Given the description of an element on the screen output the (x, y) to click on. 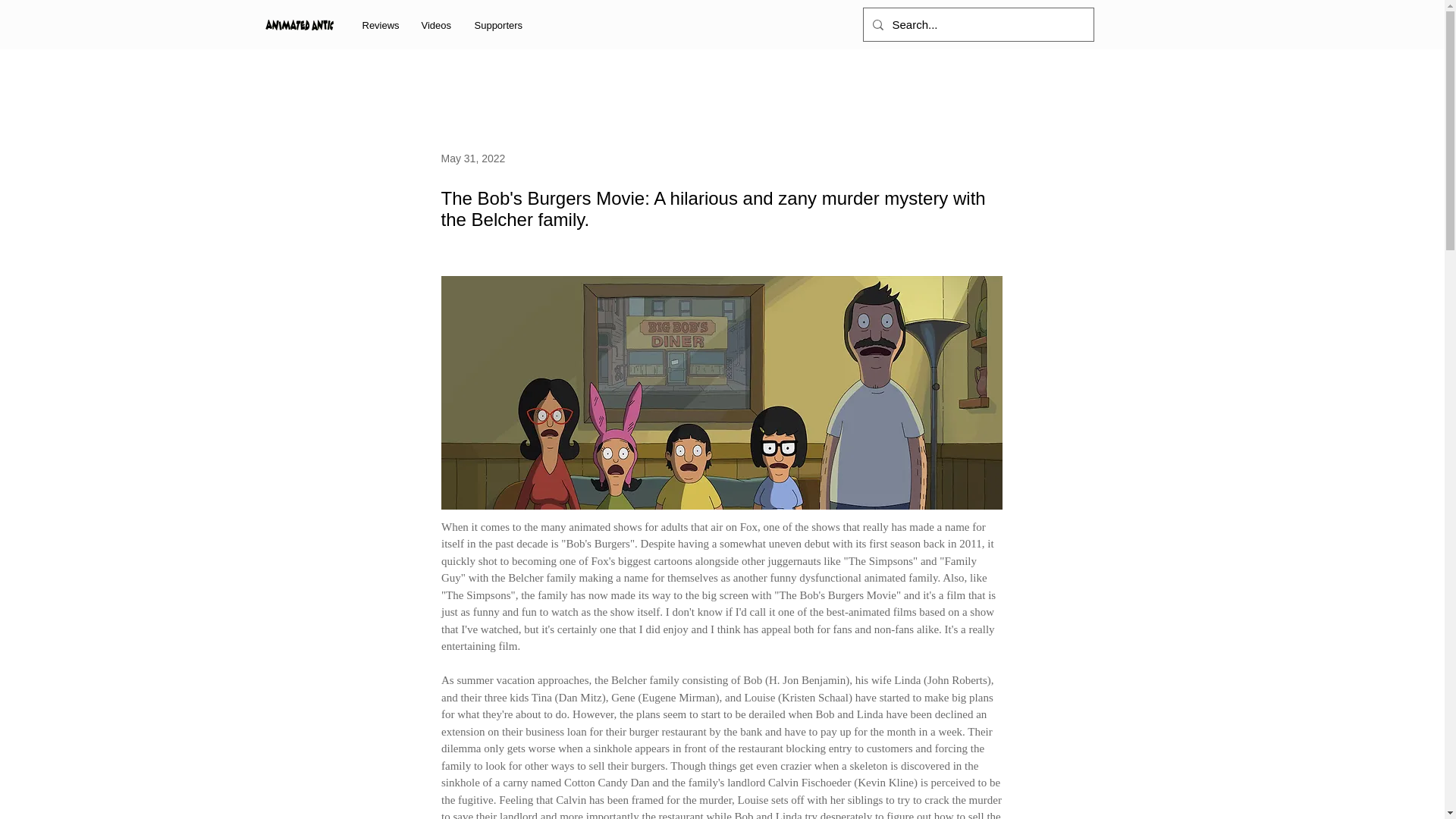
May 31, 2022 (473, 157)
Supporters (499, 25)
Videos (436, 25)
Reviews (379, 25)
